Given the description of an element on the screen output the (x, y) to click on. 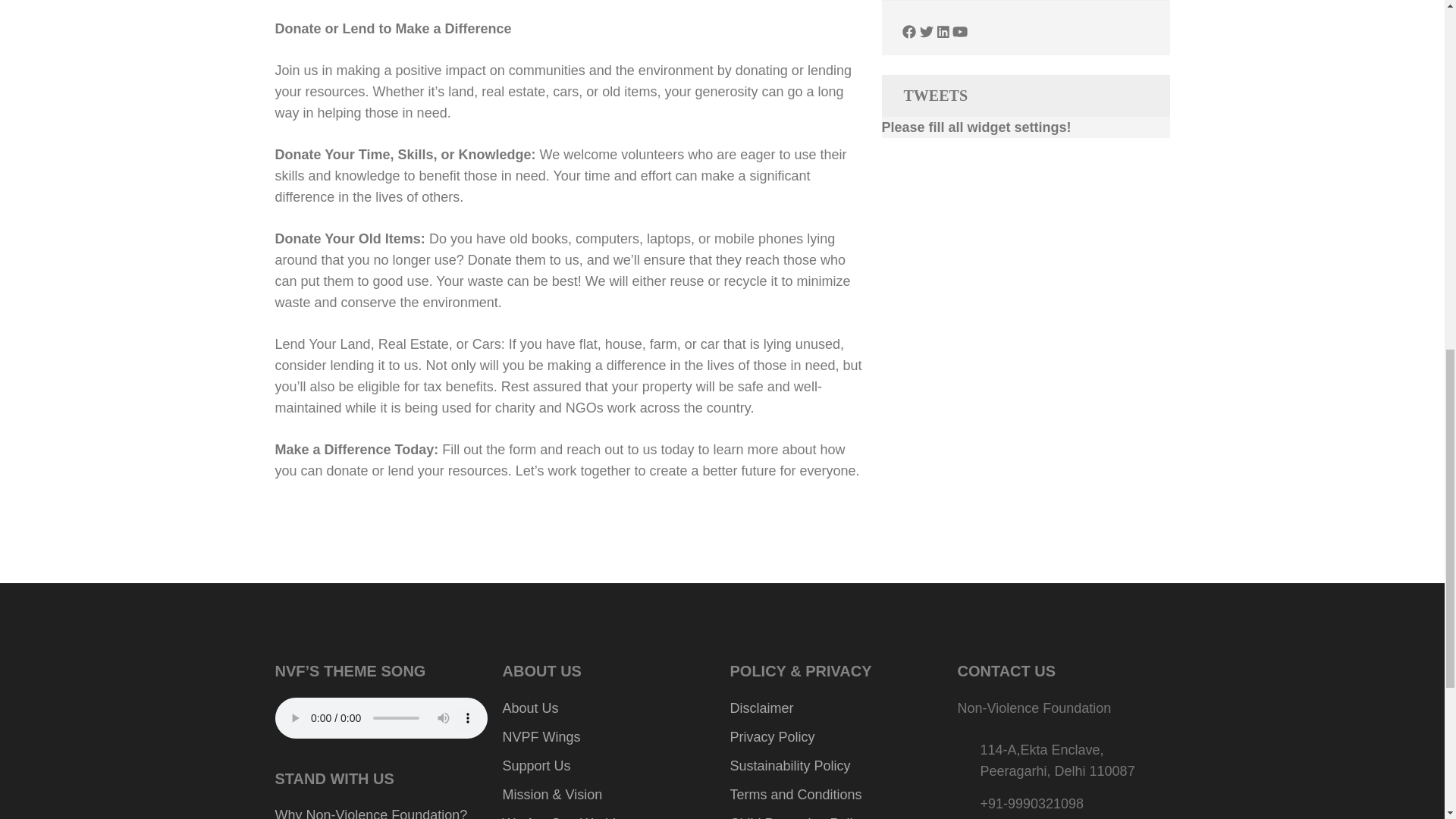
youtube (960, 32)
facebook (908, 32)
twitter (926, 32)
